Given the description of an element on the screen output the (x, y) to click on. 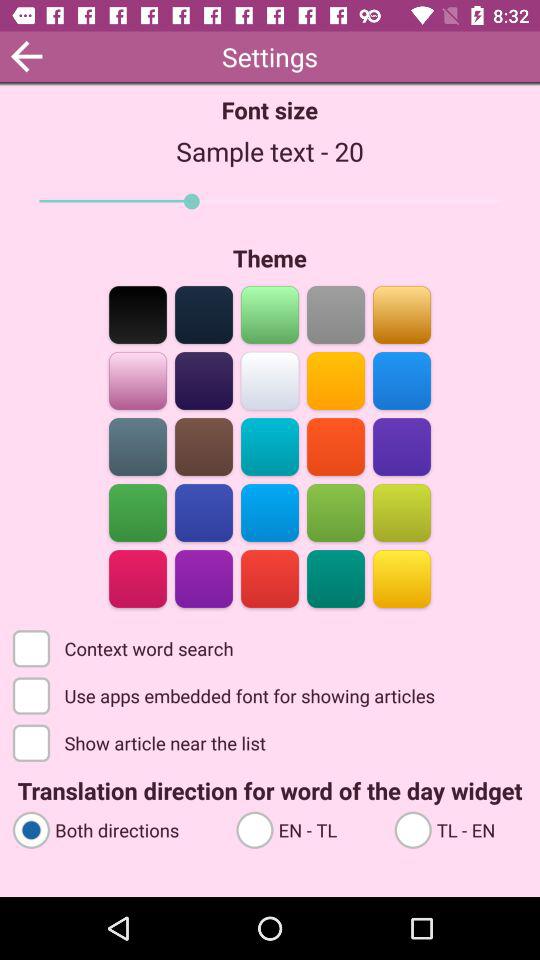
color scheme selection red (335, 445)
